Given the description of an element on the screen output the (x, y) to click on. 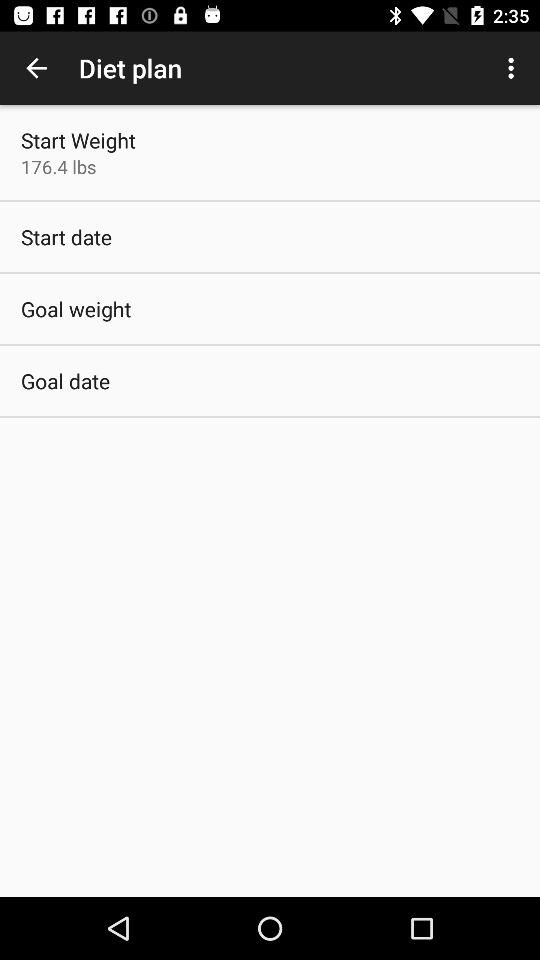
choose the goal weight app (76, 308)
